Given the description of an element on the screen output the (x, y) to click on. 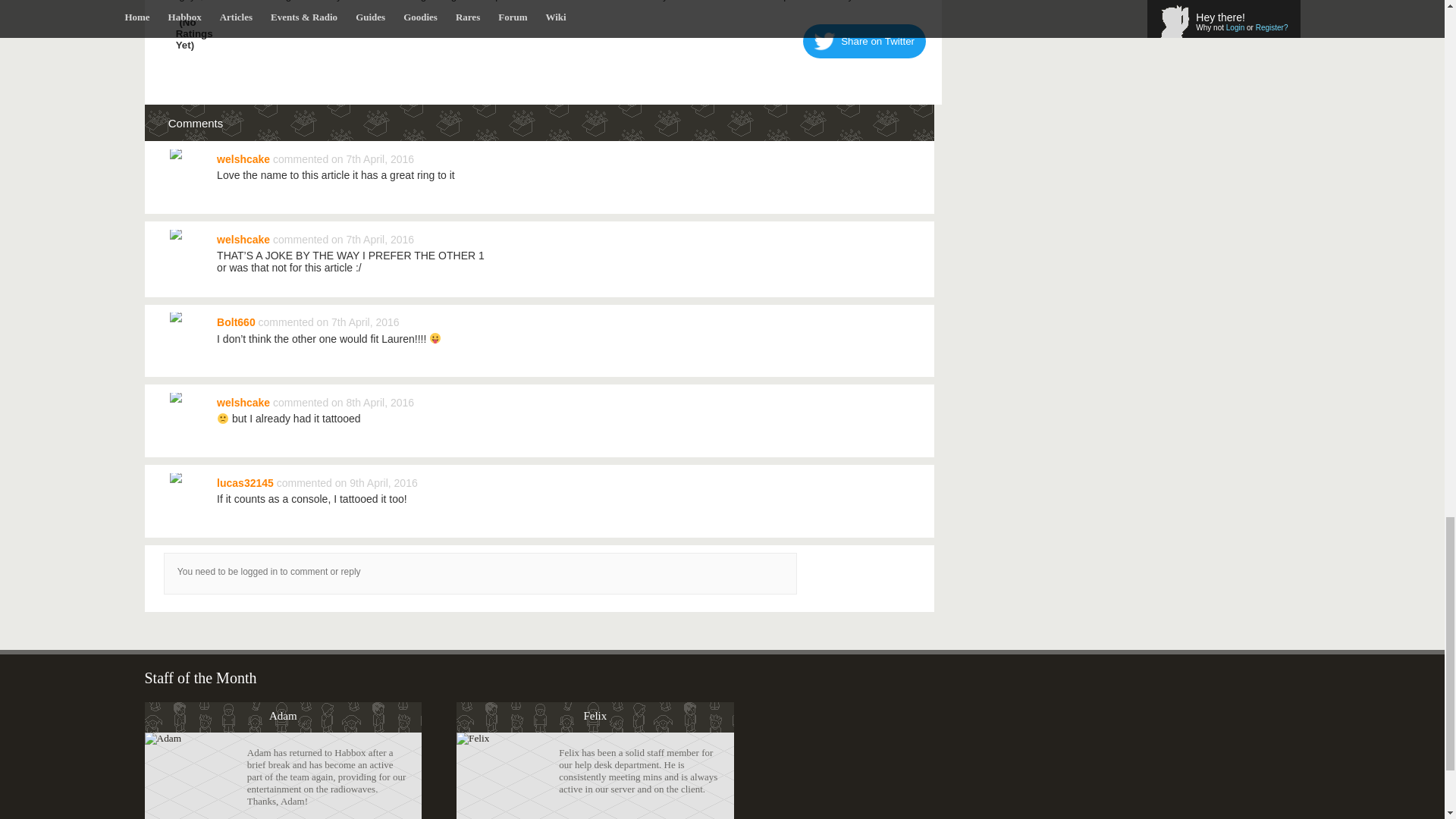
Tweet this (864, 41)
